Given the description of an element on the screen output the (x, y) to click on. 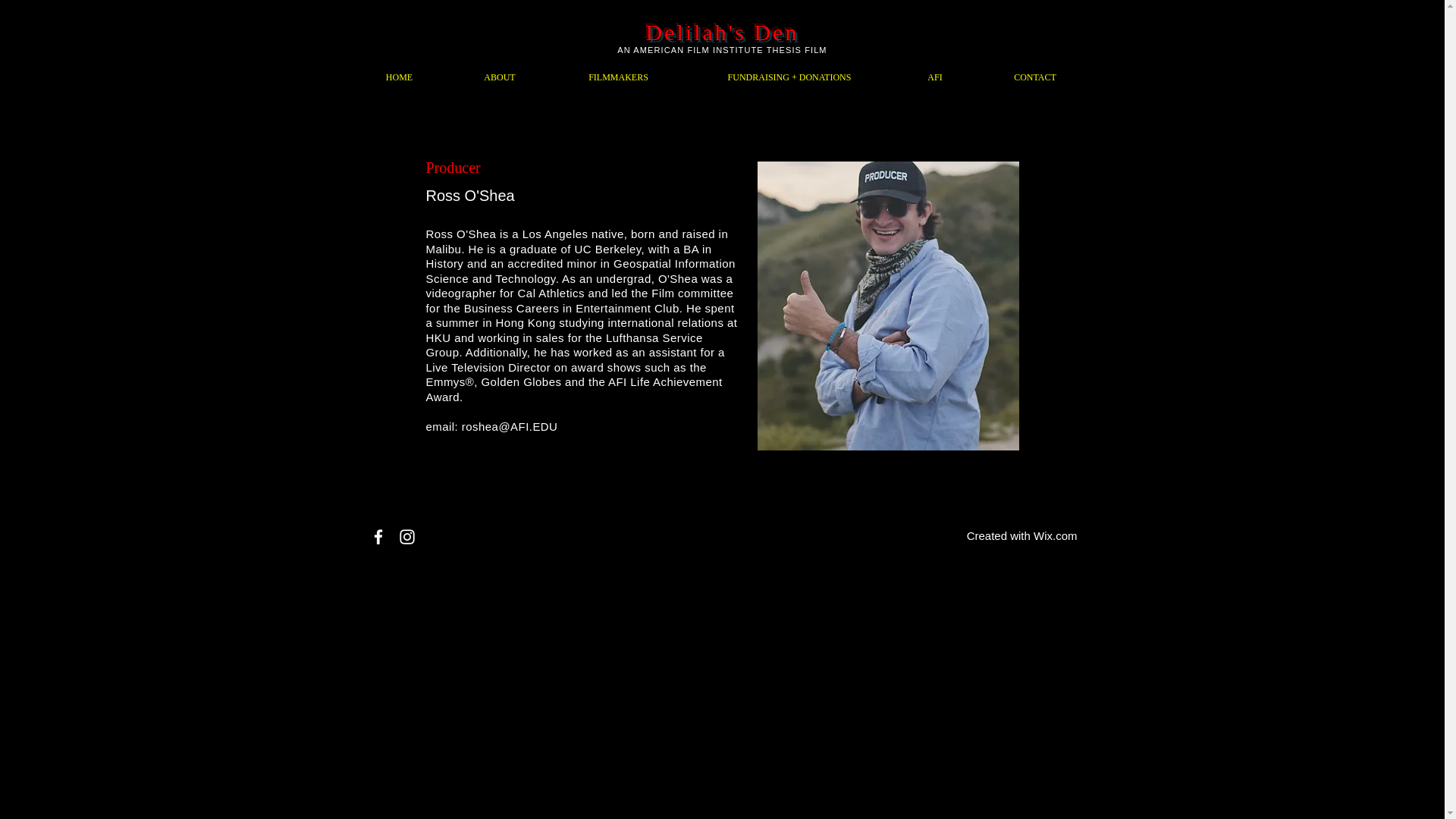
Wix.com (1055, 535)
Delilah's Den (722, 32)
CONTACT (1035, 76)
guy2.jpg (887, 305)
AFI (934, 76)
ABOUT (498, 76)
FILMMAKERS (618, 76)
HOME (398, 76)
